Given the description of an element on the screen output the (x, y) to click on. 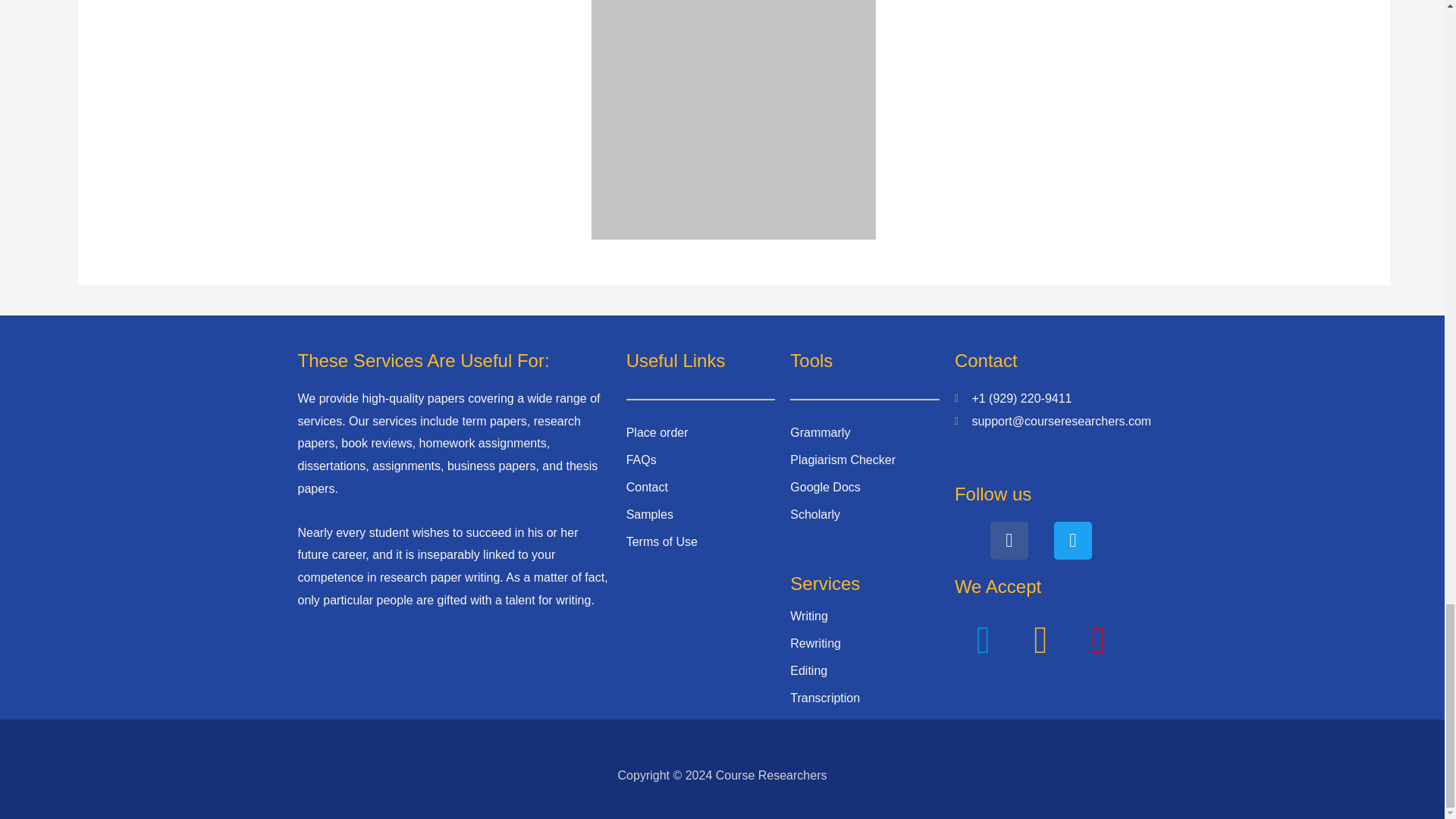
Samples (649, 513)
FAQs (641, 459)
Facebook (1008, 540)
Twitter (1073, 540)
Contact (647, 486)
Transcription (825, 697)
Writing (809, 615)
Place order (657, 431)
Editing (808, 670)
Terms of Use (661, 541)
Rewriting (815, 643)
